Given the description of an element on the screen output the (x, y) to click on. 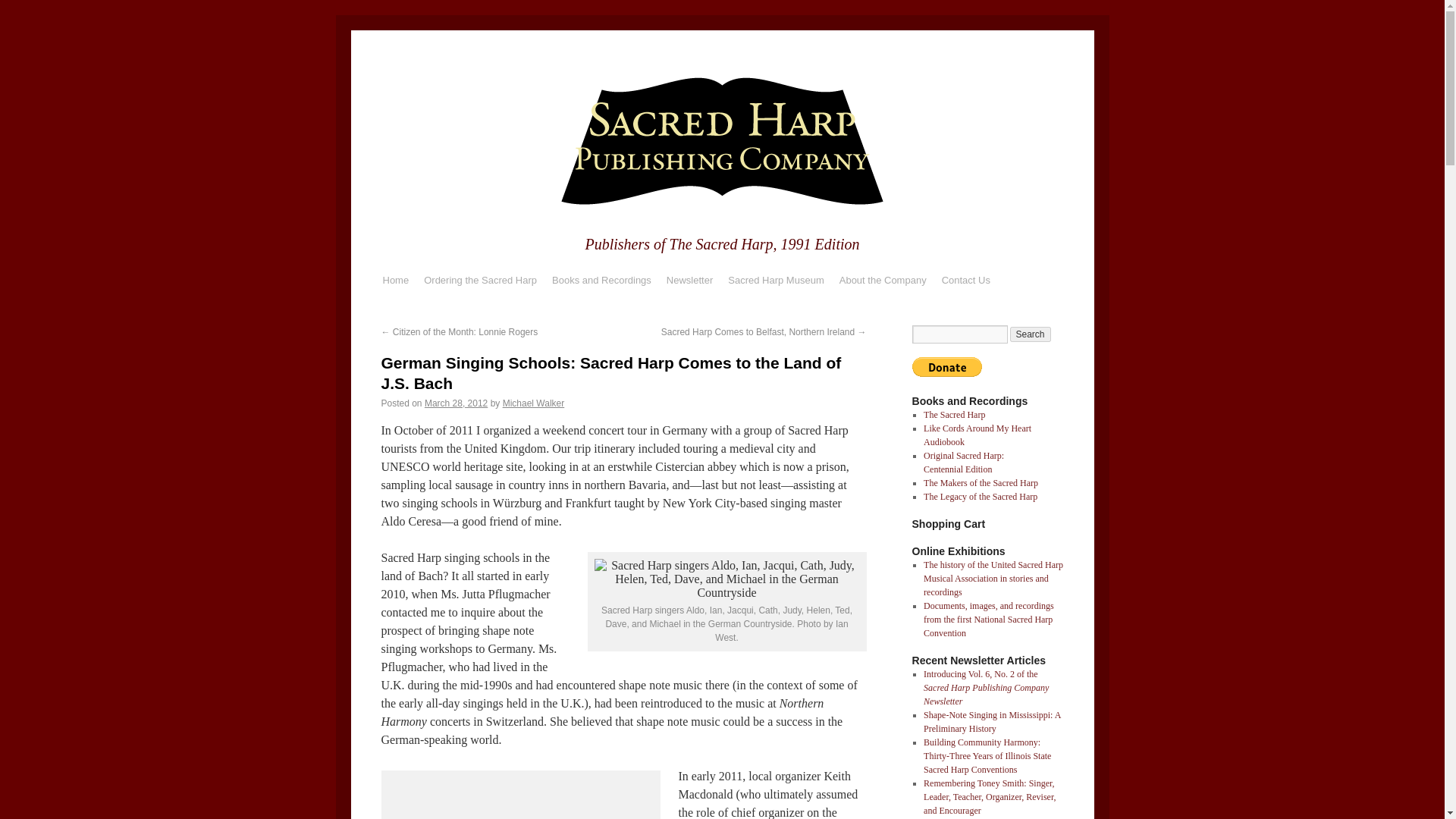
Search (1030, 334)
Ordering the Sacred Harp (480, 280)
Books and Recordings (601, 280)
March 28, 2012 (456, 403)
Home (395, 280)
PayPal - The safer, easier way to pay online! (946, 366)
Posts by Michael Walker (533, 403)
Newsletter (689, 280)
Contact Us (965, 280)
About the Company (882, 280)
Michael Walker (533, 403)
Sacred Harp Museum (775, 280)
12:16 pm (456, 403)
The Sacred Harp Publishing Company (722, 209)
